Given the description of an element on the screen output the (x, y) to click on. 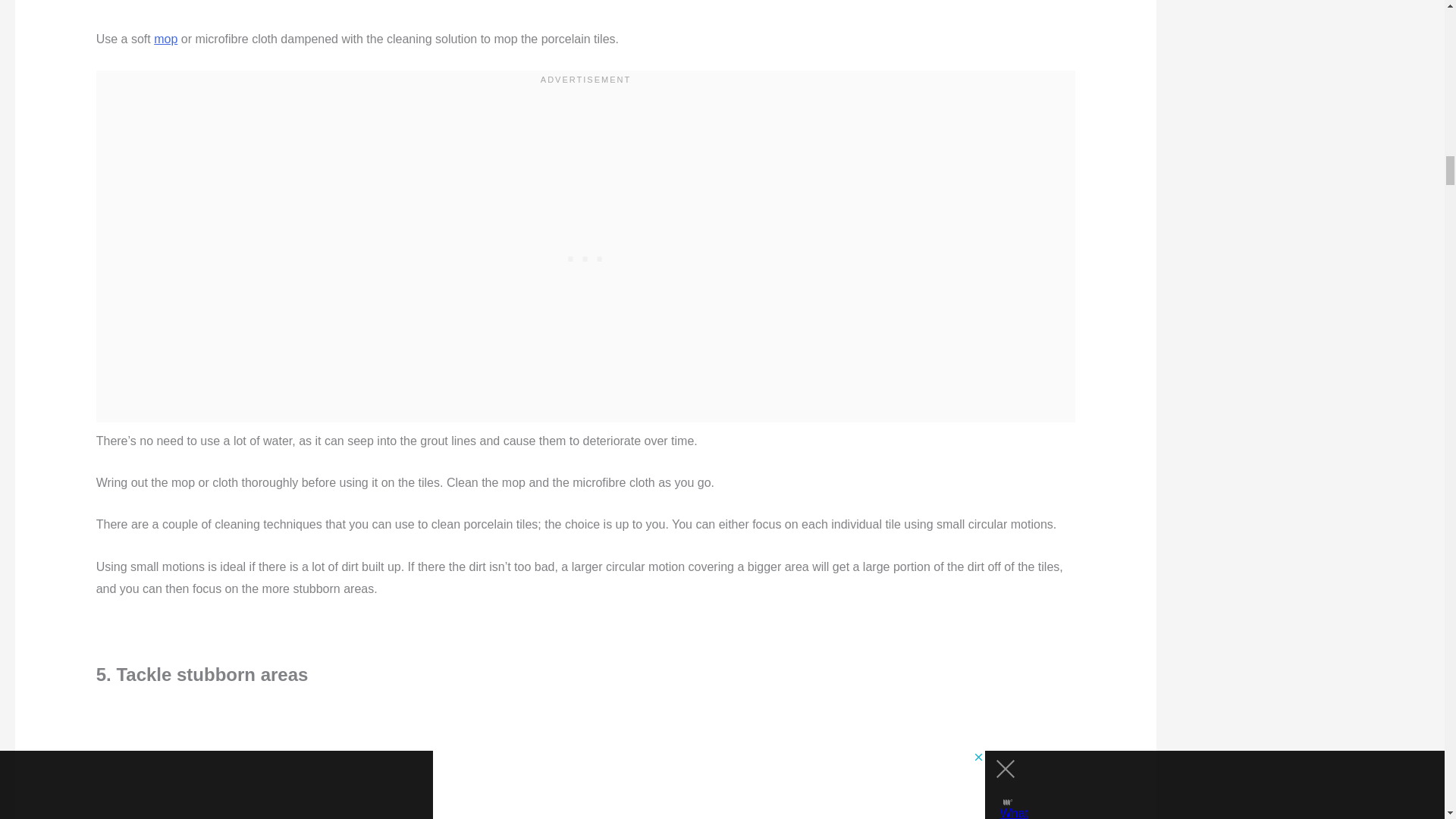
mop (165, 38)
